Given the description of an element on the screen output the (x, y) to click on. 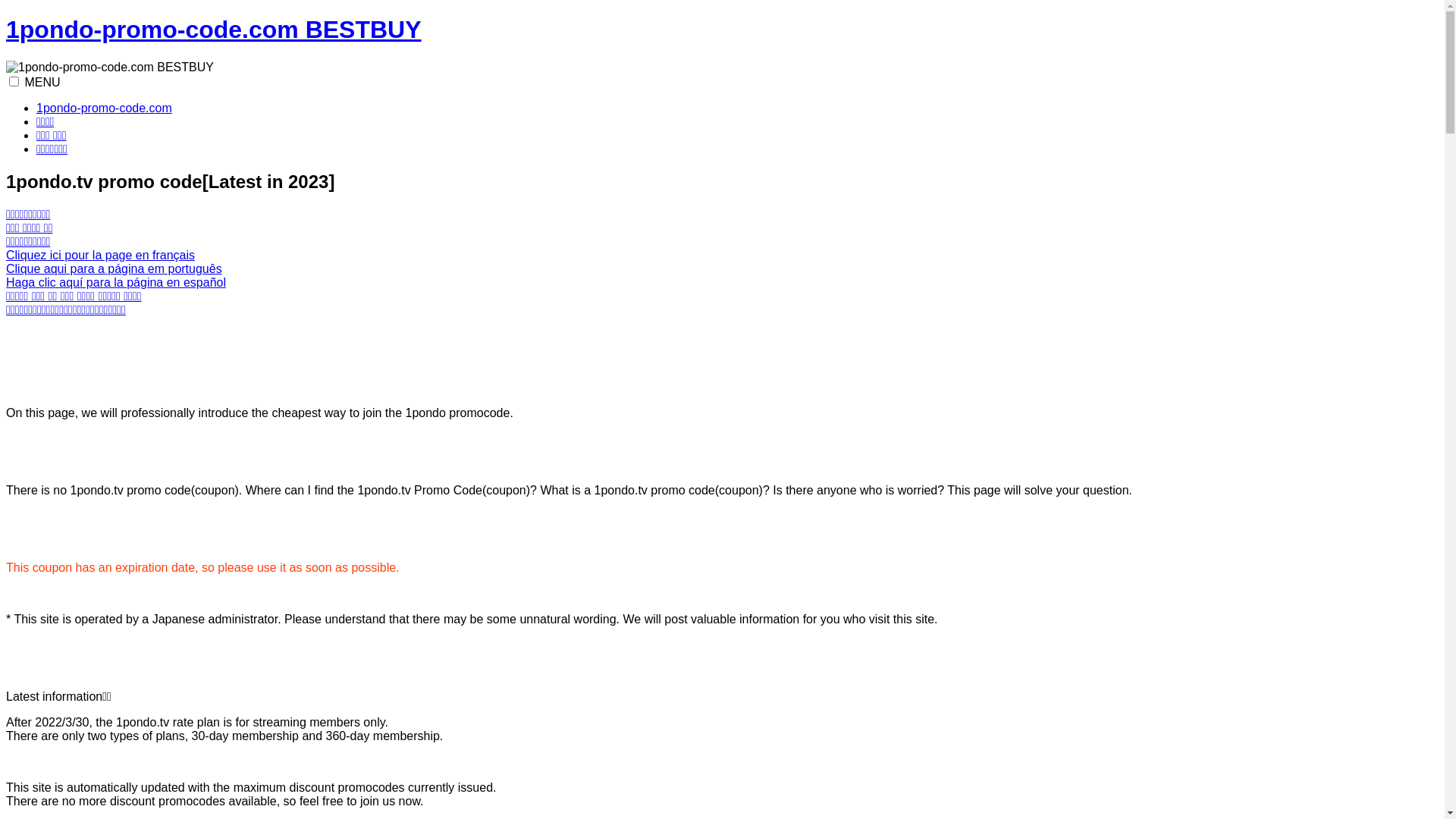
1pondo-promo-code.com BESTBUY Element type: text (213, 29)
1pondo-promo-code.com Element type: text (104, 107)
